Given the description of an element on the screen output the (x, y) to click on. 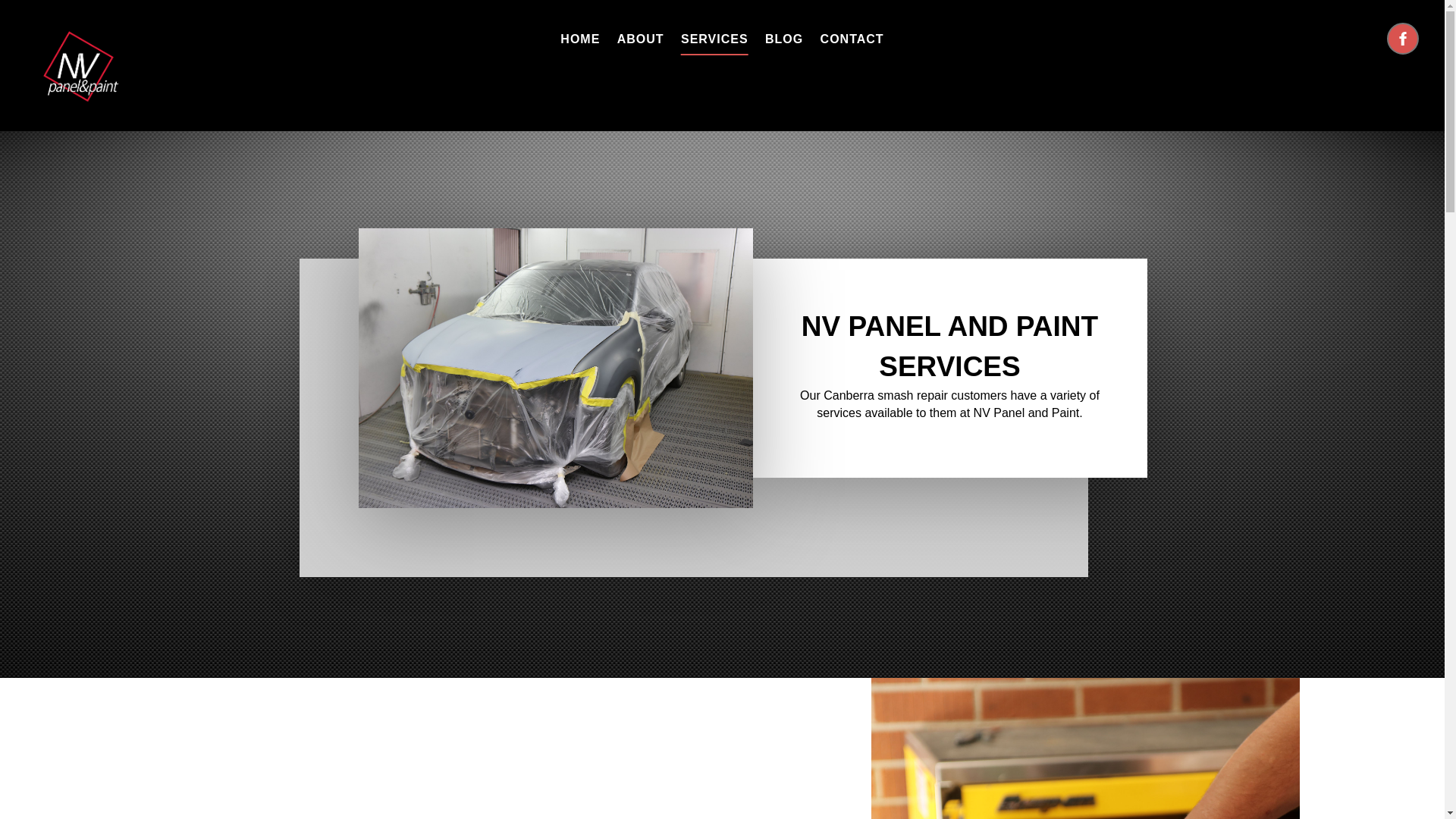
HOME Element type: text (579, 39)
BLOG Element type: text (784, 39)
SERVICES Element type: text (714, 39)
CONTACT Element type: text (852, 39)
ABOUT Element type: text (640, 39)
